Given the description of an element on the screen output the (x, y) to click on. 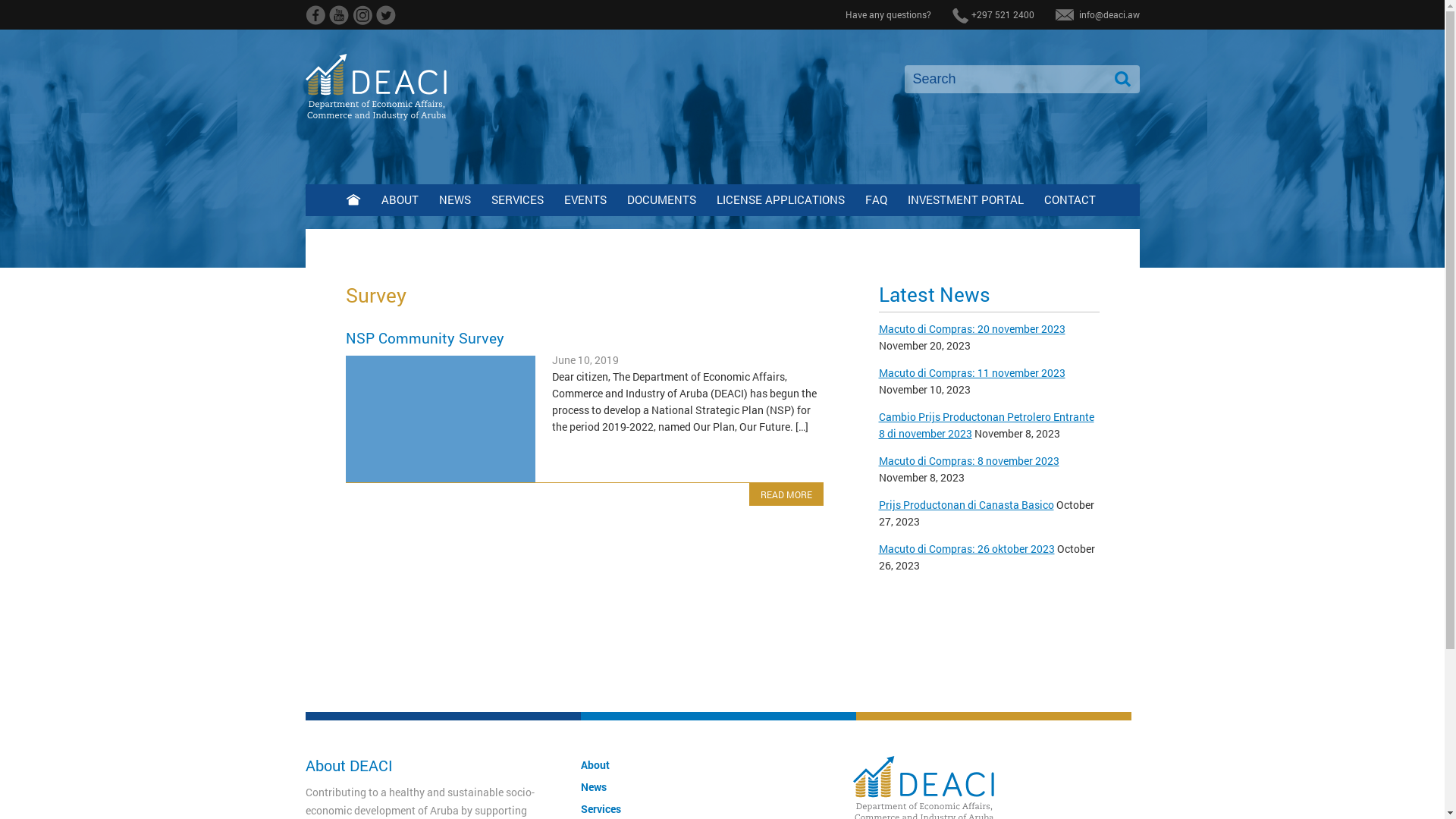
YouTube Element type: hover (339, 20)
Twitter Element type: hover (386, 20)
SERVICES Element type: text (517, 200)
Latest News Element type: text (933, 294)
Services Element type: text (600, 808)
READ MORE Element type: text (786, 494)
Facebook Element type: hover (315, 20)
Macuto di Compras: 11 november 2023 Element type: text (971, 372)
Prijs Productonan di Canasta Basico Element type: text (965, 504)
+297 521 2400 Element type: text (1001, 14)
FAQ Element type: text (875, 200)
About Element type: text (594, 764)
Macuto di Compras: 26 oktober 2023 Element type: text (966, 548)
Macuto di Compras: 8 november 2023 Element type: text (968, 460)
EVENTS Element type: text (585, 200)
NSP Community Survey Element type: text (424, 337)
Instagram Element type: hover (362, 20)
info@deaci.aw Element type: text (1108, 14)
ABOUT Element type: text (398, 200)
LICENSE APPLICATIONS Element type: text (779, 200)
Back to home Element type: hover (352, 200)
Macuto di Compras: 20 november 2023 Element type: text (971, 328)
INVESTMENT PORTAL Element type: text (964, 200)
NEWS Element type: text (454, 200)
CONTACT Element type: text (1069, 200)
DOCUMENTS Element type: text (660, 200)
News Element type: text (593, 786)
Have any questions? Element type: text (887, 14)
